Given the description of an element on the screen output the (x, y) to click on. 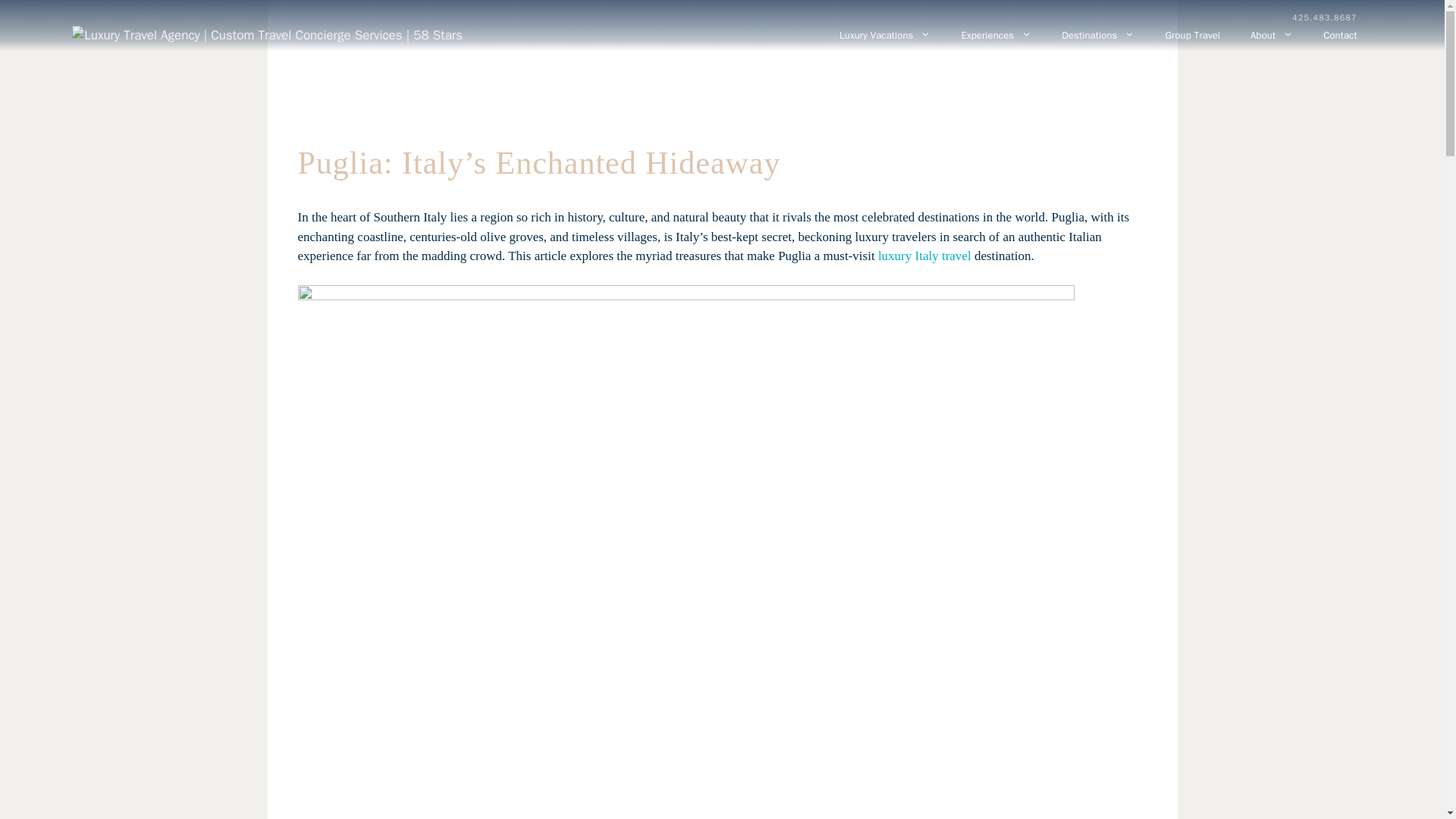
425.483.8687 (1324, 17)
Experiences (995, 34)
Luxury Vacations (884, 34)
Destinations (1098, 34)
About (1270, 34)
Group Travel (1192, 34)
